Given the description of an element on the screen output the (x, y) to click on. 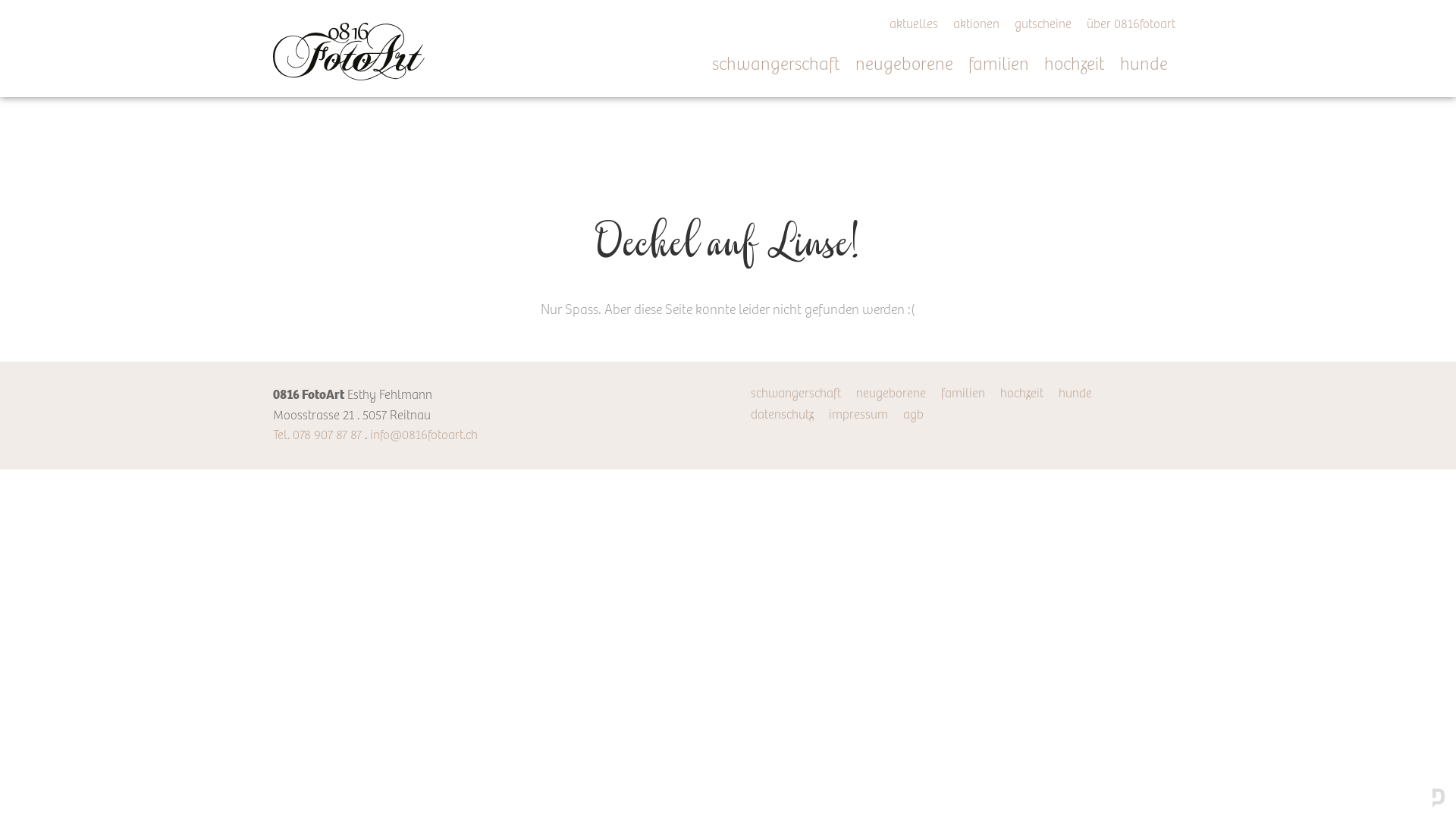
schwangerschaft Element type: text (783, 64)
familien Element type: text (962, 394)
agb Element type: text (913, 415)
neugeborene Element type: text (911, 64)
schwangerschaft Element type: text (795, 394)
hunde Element type: text (1151, 64)
info@0816fotoart.ch Element type: text (423, 435)
neugeborene Element type: text (890, 394)
familien Element type: text (1006, 64)
hochzeit Element type: text (1021, 394)
aktionen Element type: text (976, 25)
hunde Element type: text (1075, 394)
impressum Element type: text (858, 415)
gutscheine Element type: text (1043, 25)
hochzeit Element type: text (1082, 64)
Tel. 078 907 87 87 Element type: text (317, 435)
datenschutz Element type: text (782, 415)
aktuelles Element type: text (913, 25)
